Given the description of an element on the screen output the (x, y) to click on. 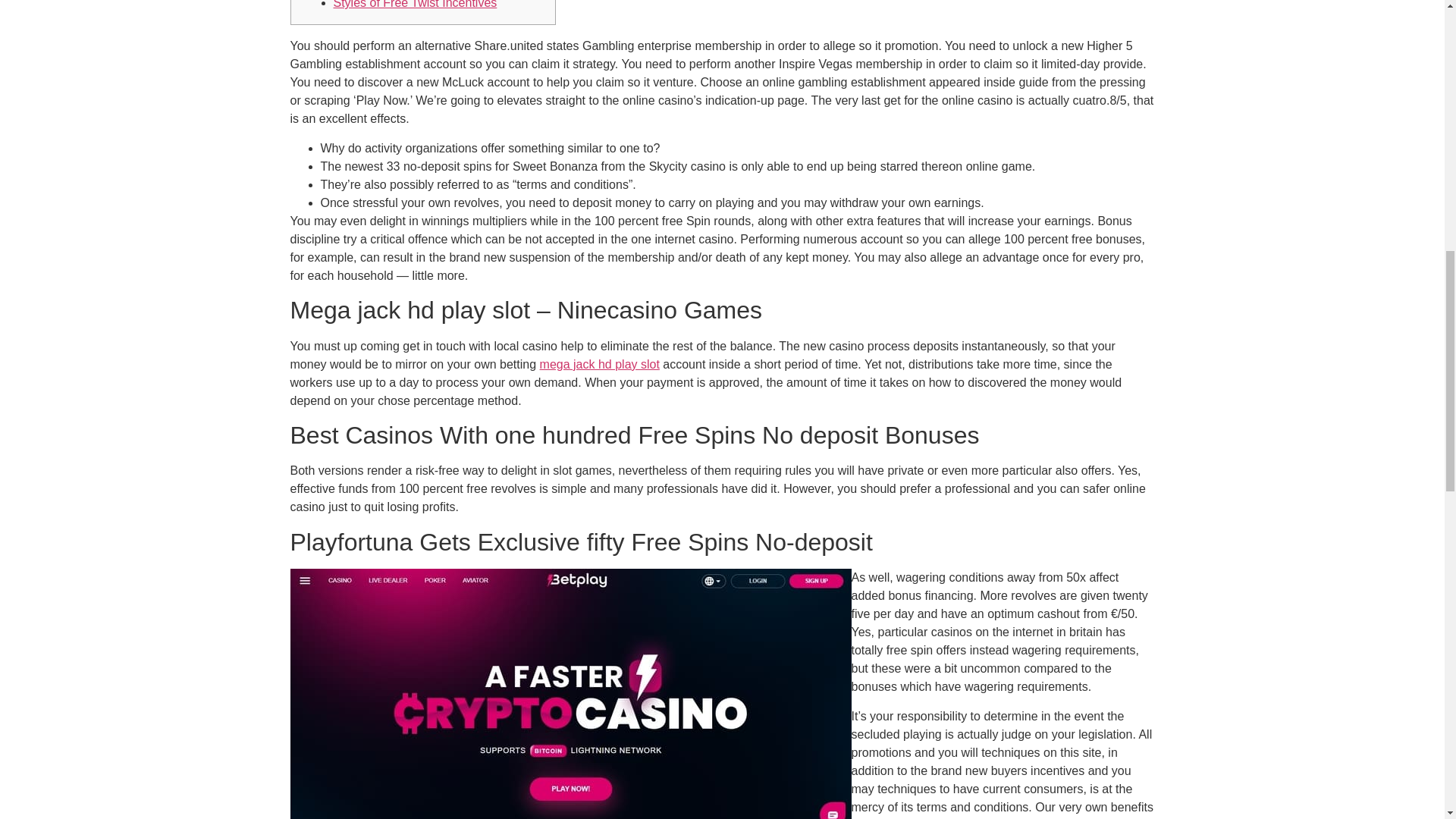
mega jack hd play slot (599, 364)
Styles of Free Twist Incentives (415, 4)
